Given the description of an element on the screen output the (x, y) to click on. 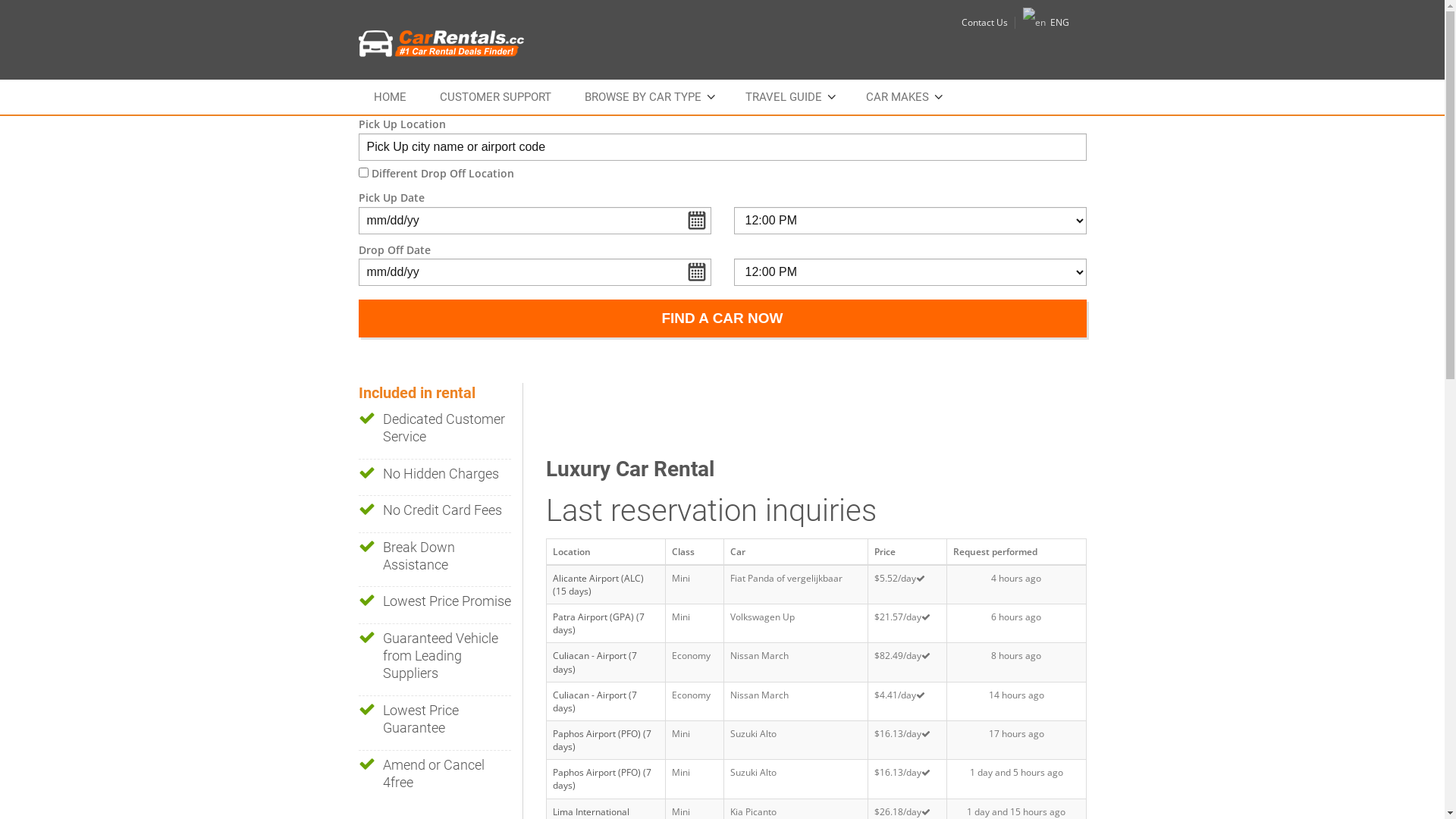
BROWSE BY CAR TYPE Element type: text (647, 96)
ENG Element type: text (1045, 21)
CUSTOMER SUPPORT Element type: text (495, 96)
en Element type: hover (1033, 22)
FIND A CAR NOW Element type: text (721, 318)
TRAVEL GUIDE Element type: text (788, 96)
HOME Element type: text (388, 96)
CAR MAKES Element type: text (902, 96)
Contact Us Element type: text (984, 21)
Advertisement Element type: hover (822, 416)
